Given the description of an element on the screen output the (x, y) to click on. 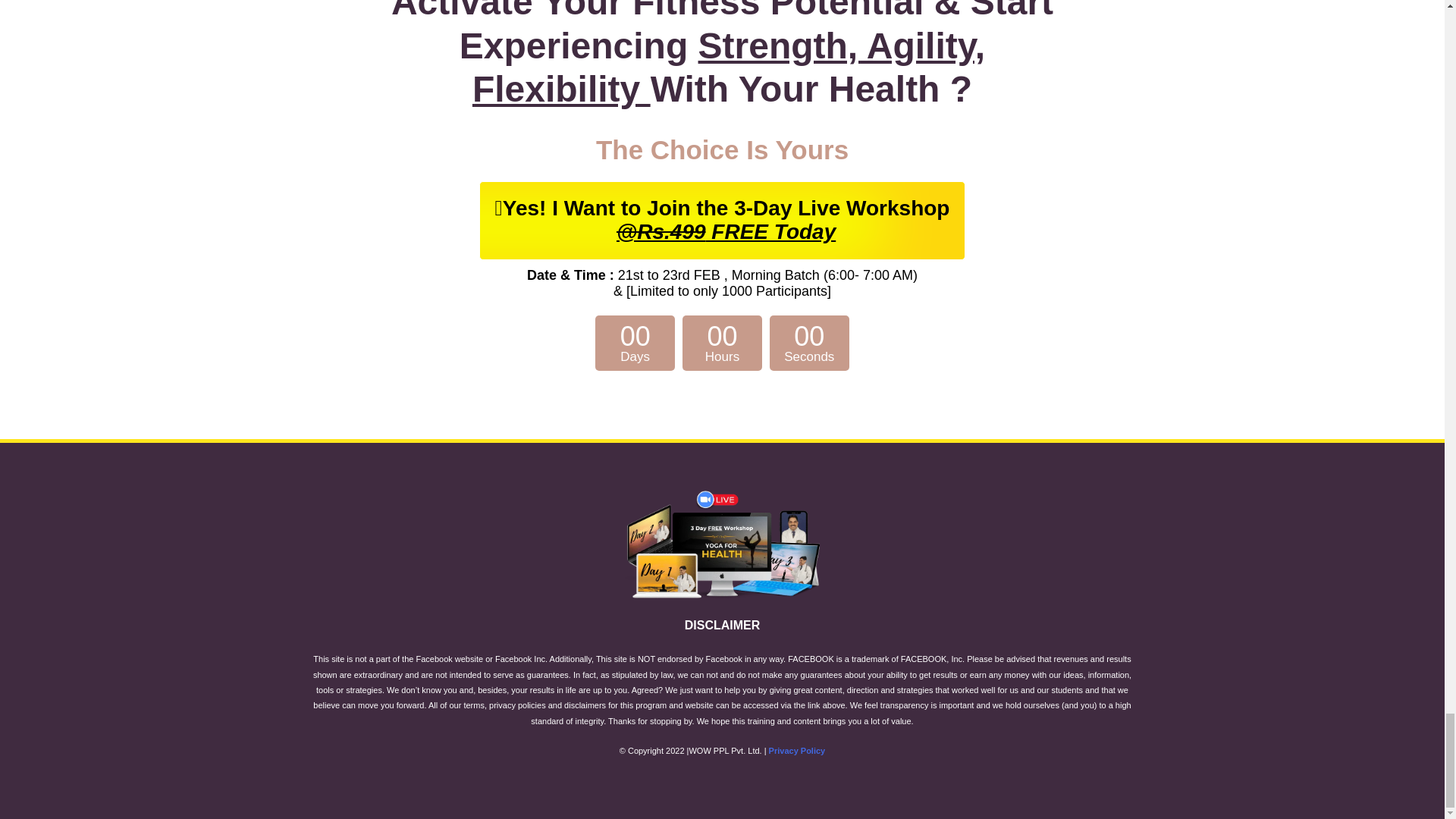
Privacy Policy (796, 750)
